Given the description of an element on the screen output the (x, y) to click on. 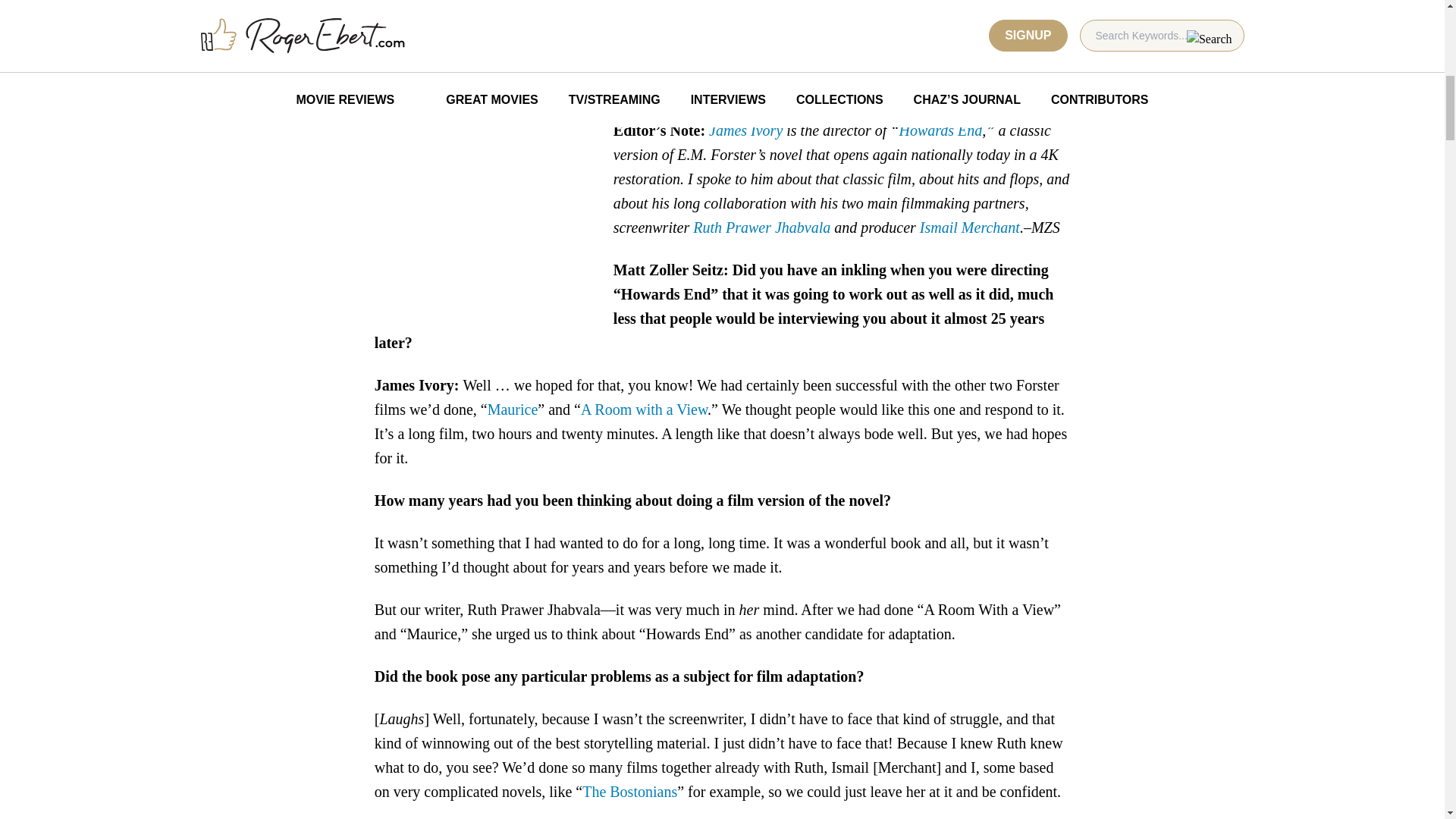
Howards End (939, 130)
James Ivory (746, 130)
Maurice (512, 409)
Ismail Merchant (970, 227)
A Room with a View (643, 409)
Ruth Prawer Jhabvala (761, 227)
The Bostonians (629, 791)
